Given the description of an element on the screen output the (x, y) to click on. 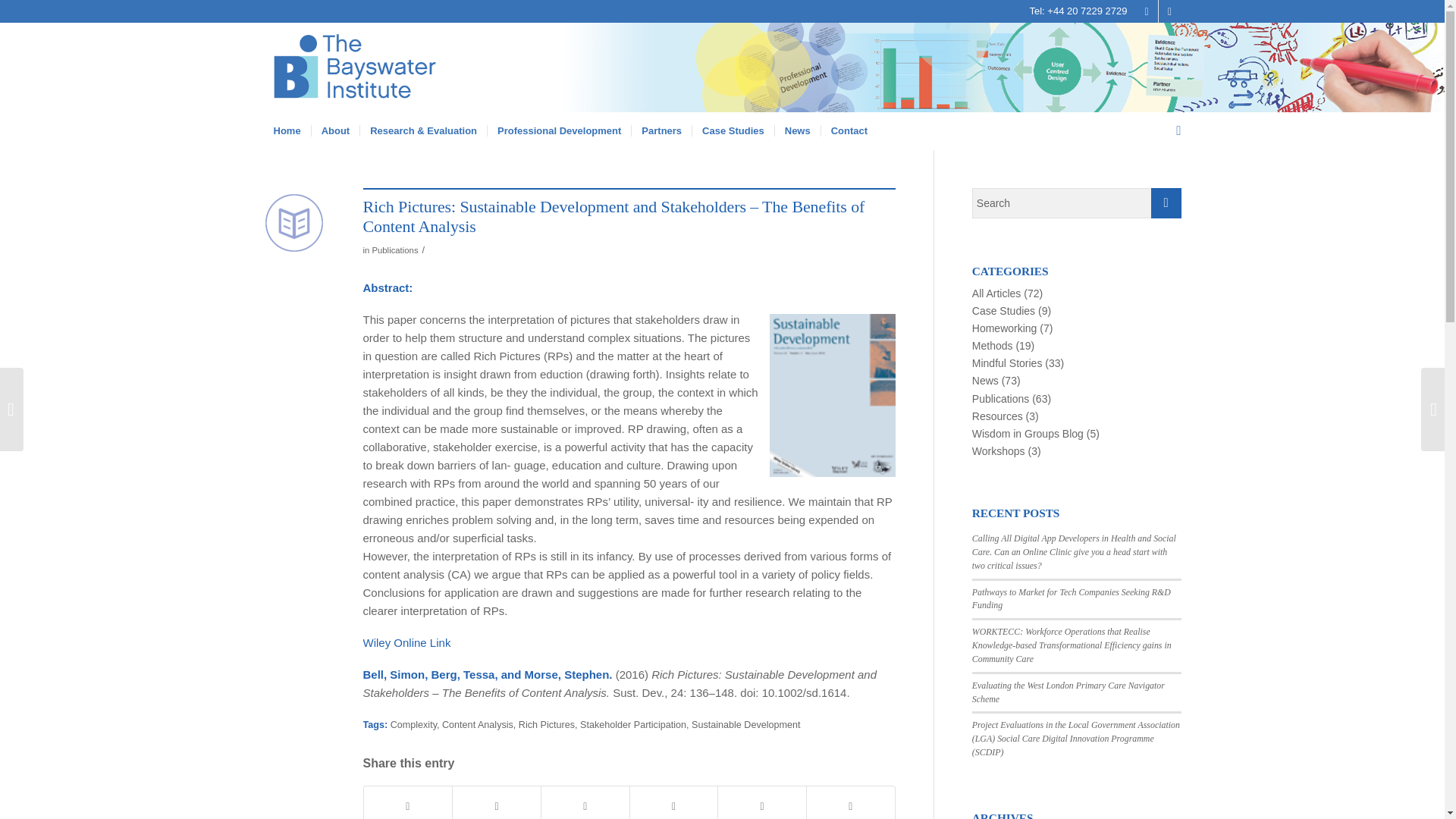
Professional Development (558, 130)
Publications (394, 249)
Twitter (1146, 11)
Partners (660, 130)
Case Studies (732, 130)
header-logo-white-blend-deeper-top (385, 67)
News (797, 130)
Home (287, 130)
Mail (1169, 11)
Wiley Online Link (405, 642)
Contact (849, 130)
About (335, 130)
